Given the description of an element on the screen output the (x, y) to click on. 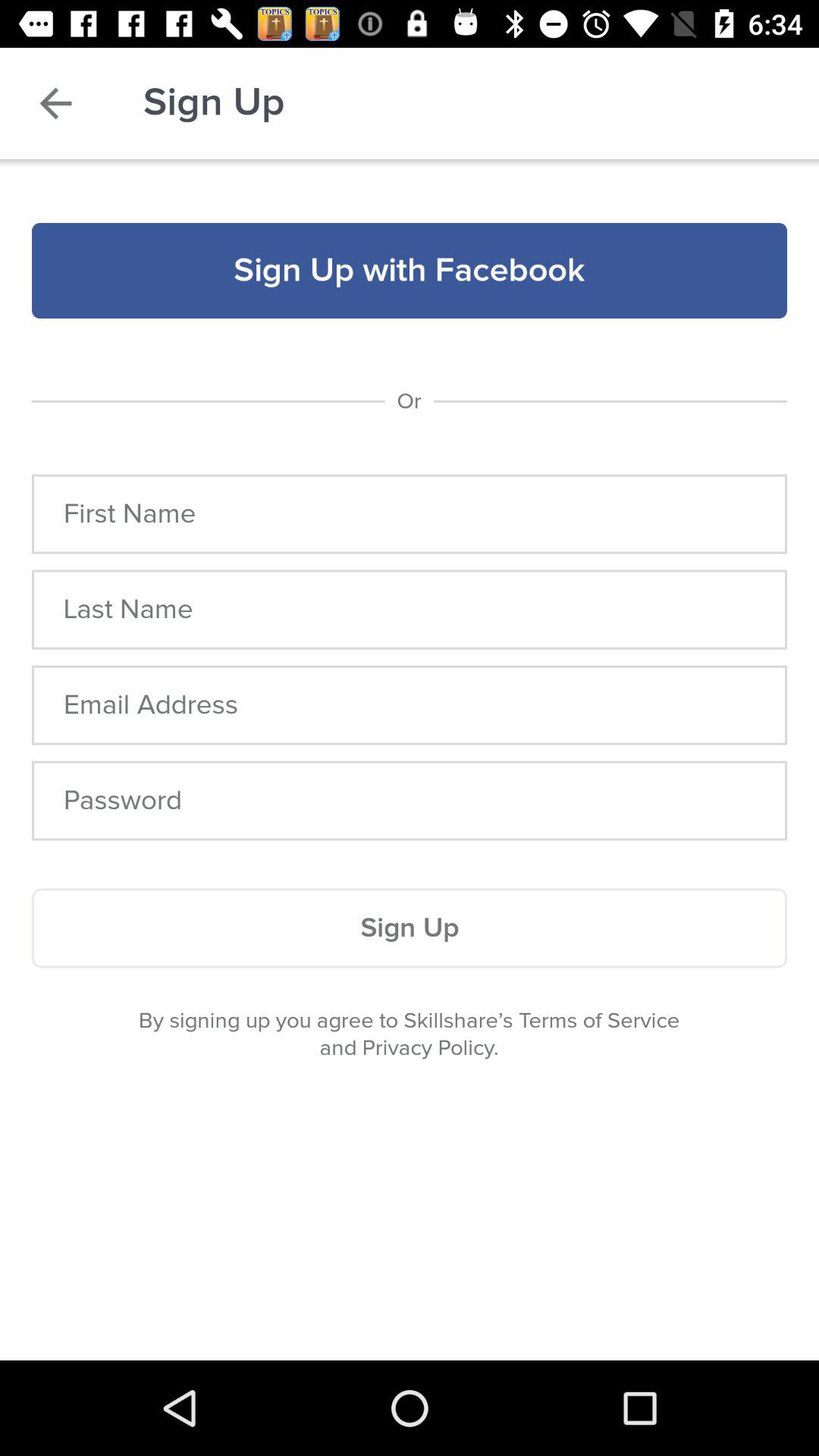
open field to enter email address (409, 705)
